Given the description of an element on the screen output the (x, y) to click on. 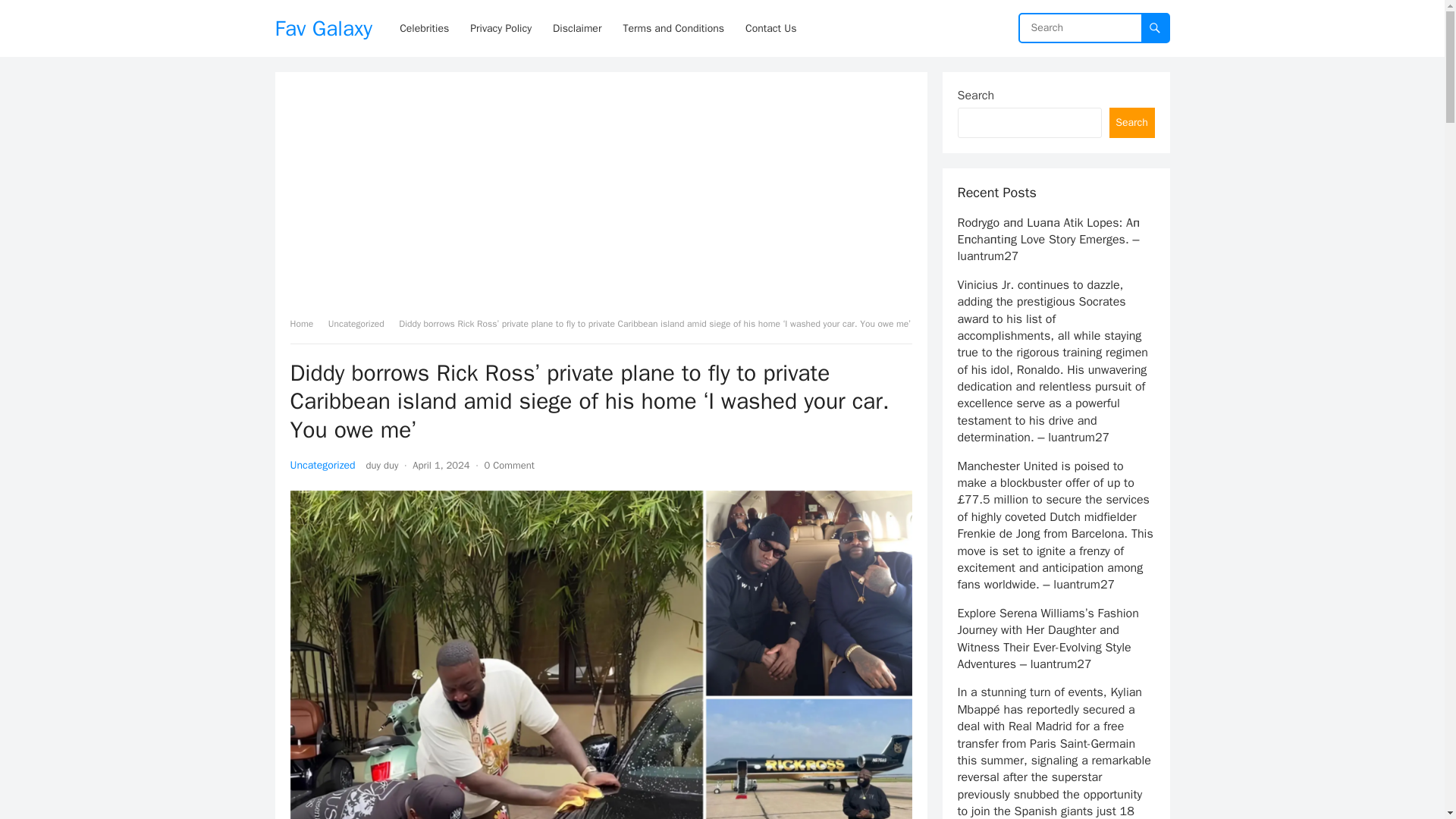
Fav Galaxy (323, 28)
Posts by duy duy (382, 464)
duy duy (382, 464)
Celebrities (424, 28)
Uncategorized (322, 464)
Uncategorized (361, 323)
0 Comment (509, 464)
Privacy Policy (500, 28)
Home (306, 323)
Terms and Conditions (672, 28)
